Given the description of an element on the screen output the (x, y) to click on. 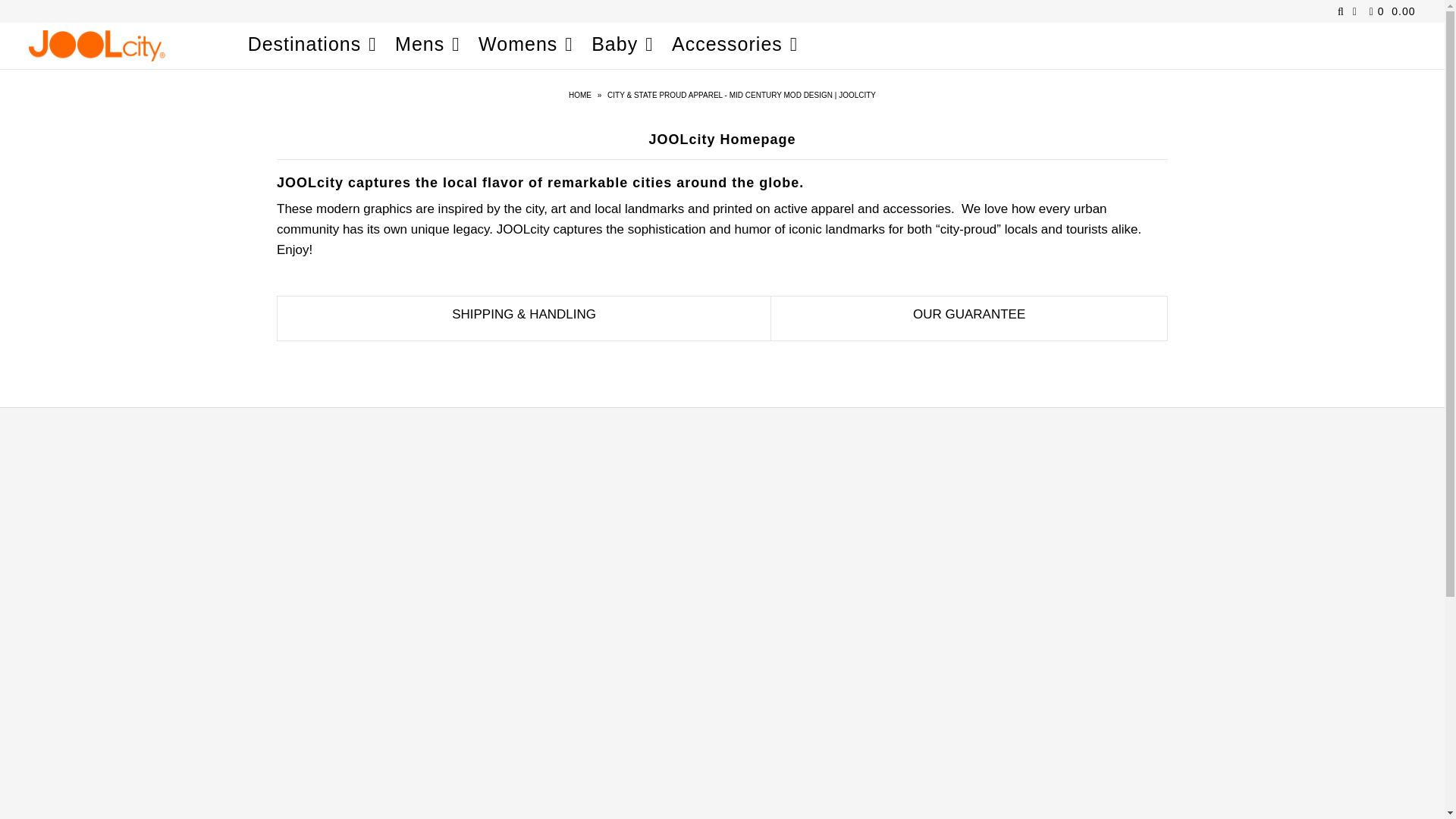
Destinations (312, 43)
Mens (427, 43)
  0  0.00 (1390, 10)
Accessories (734, 43)
Home (582, 94)
Baby (622, 43)
Womens (524, 43)
